Given the description of an element on the screen output the (x, y) to click on. 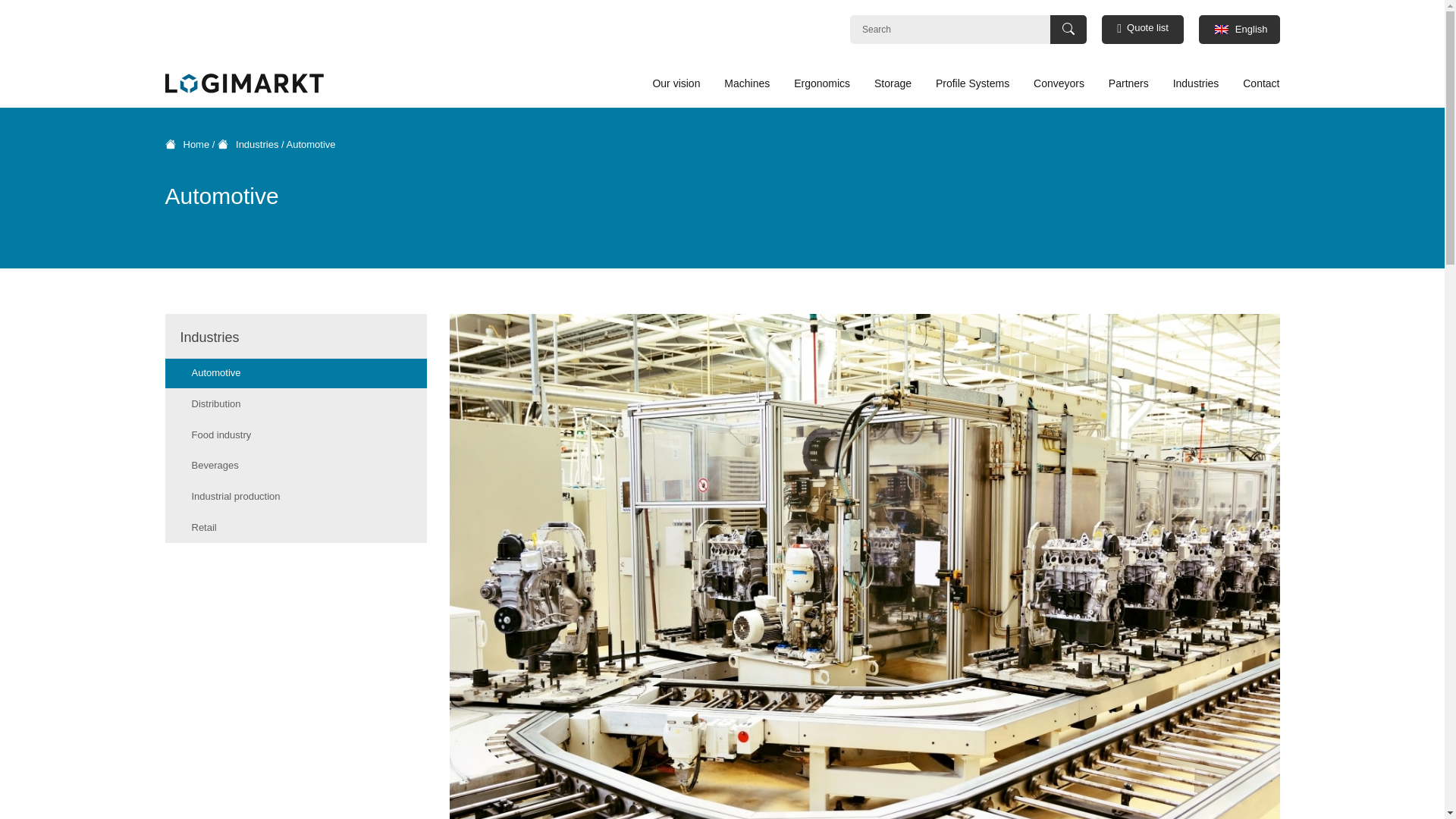
Machines (746, 82)
Retail (295, 527)
Industries (247, 143)
Automotive (295, 373)
Conveyors (1058, 82)
Industrial production (295, 496)
Industries (1195, 82)
Food industry (295, 435)
Partners (1127, 82)
Contact (1255, 82)
